Given the description of an element on the screen output the (x, y) to click on. 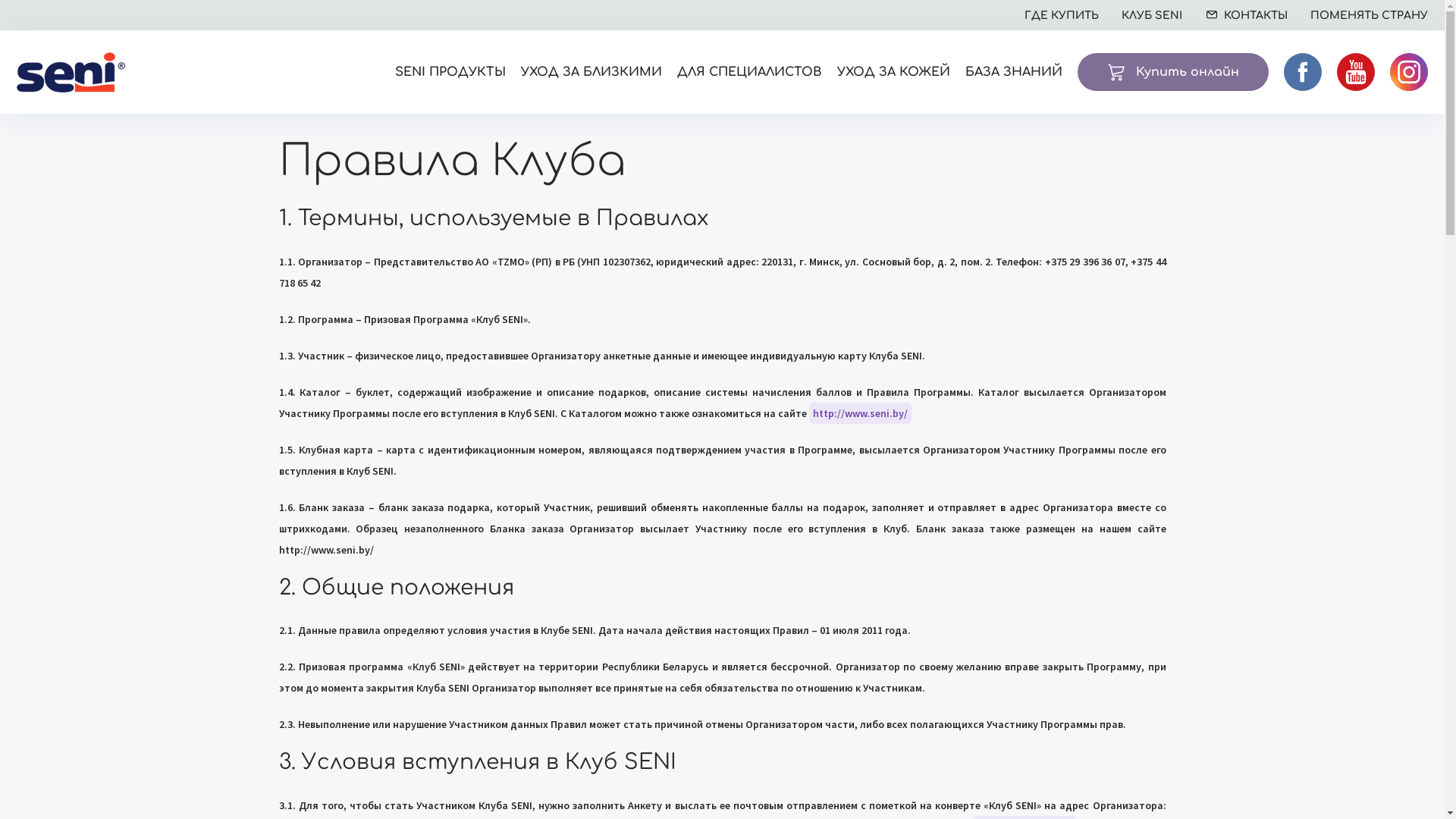
Seni Element type: hover (70, 71)
http://www.seni.by/ Element type: text (859, 412)
facebook Element type: hover (1302, 72)
instagram Element type: hover (1408, 72)
youtube Element type: hover (1355, 72)
